Given the description of an element on the screen output the (x, y) to click on. 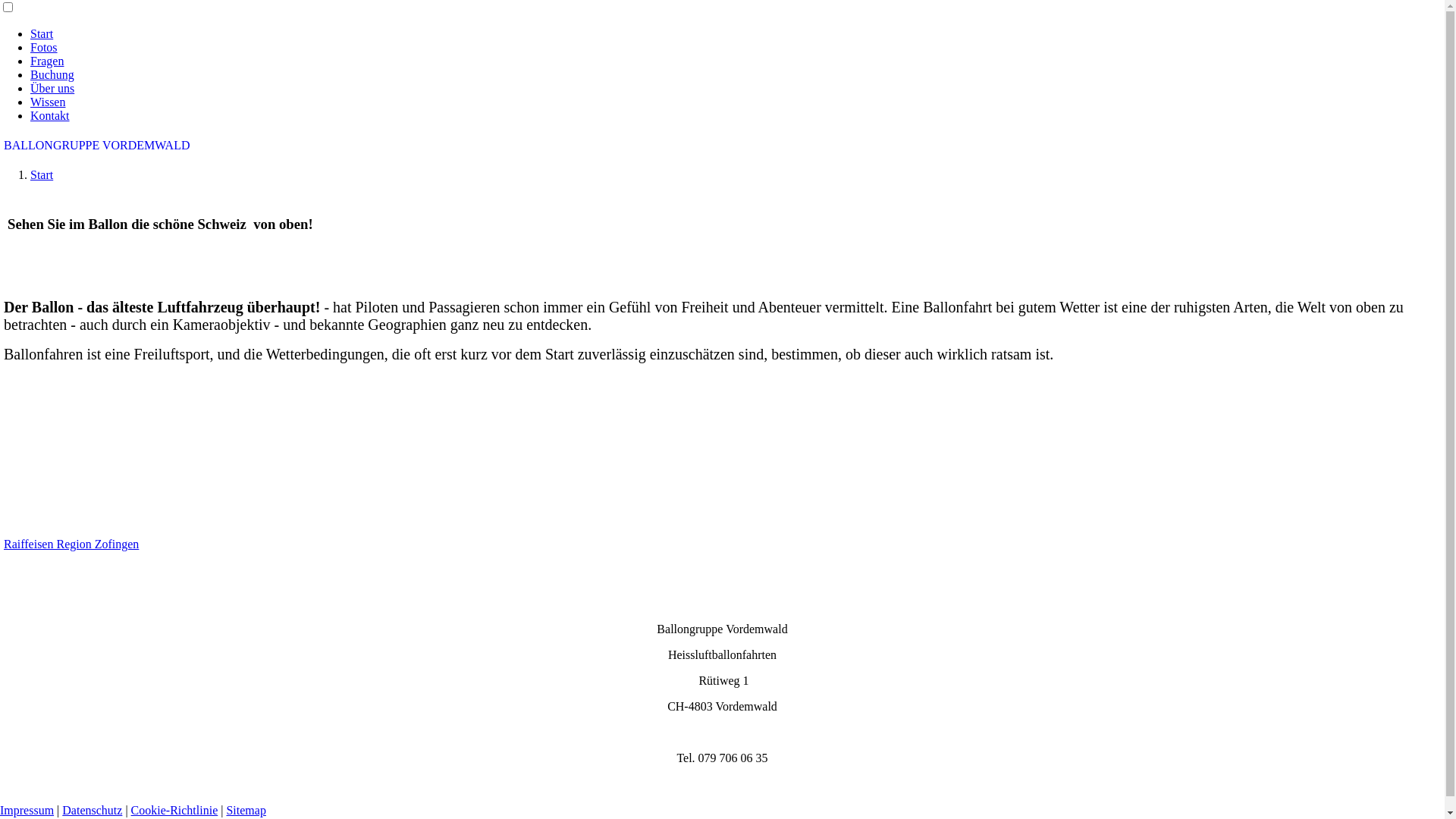
Sitemap Element type: text (245, 809)
Raiffeisen Region Zofingen Element type: text (70, 543)
Impressum Element type: text (26, 809)
Buchung Element type: text (52, 74)
BALLONGRUPPE VORDEMWALD Element type: text (96, 144)
Fotos Element type: text (43, 46)
Start Element type: text (41, 33)
Start Element type: text (41, 174)
Fragen Element type: text (46, 60)
Cookie-Richtlinie Element type: text (174, 809)
Kontakt Element type: text (49, 115)
Wissen Element type: text (47, 101)
Datenschutz Element type: text (92, 809)
